Given the description of an element on the screen output the (x, y) to click on. 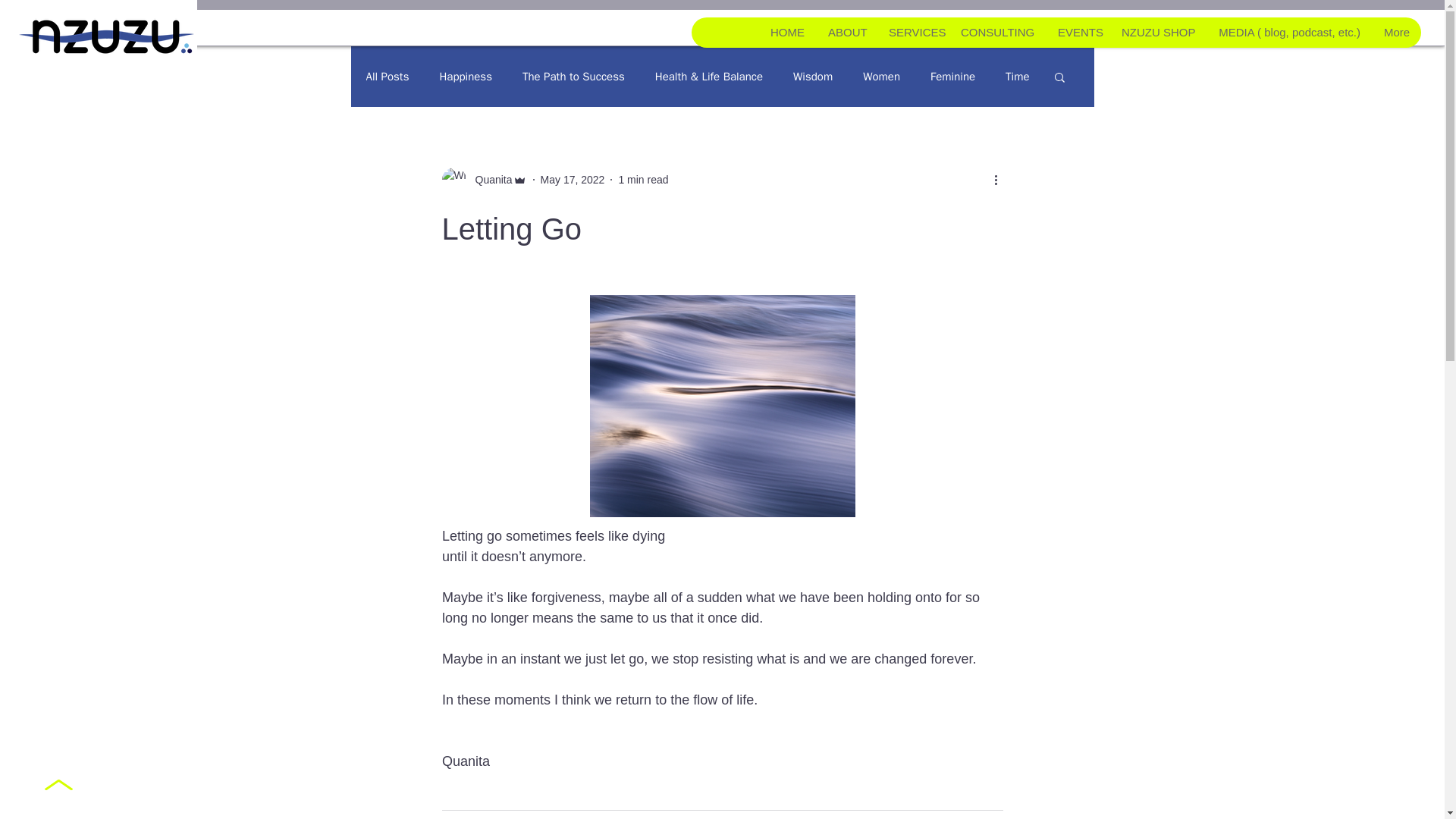
ABOUT (845, 32)
The Path to Success (573, 76)
All Posts (387, 76)
Women (881, 76)
EVENTS (1077, 32)
Wisdom (812, 76)
May 17, 2022 (572, 178)
Quanita (488, 179)
Time (1017, 76)
Happiness (465, 76)
Feminine (952, 76)
Quanita (483, 179)
1 min read (642, 178)
CONSULTING (997, 32)
NZUZU SHOP (1157, 32)
